Given the description of an element on the screen output the (x, y) to click on. 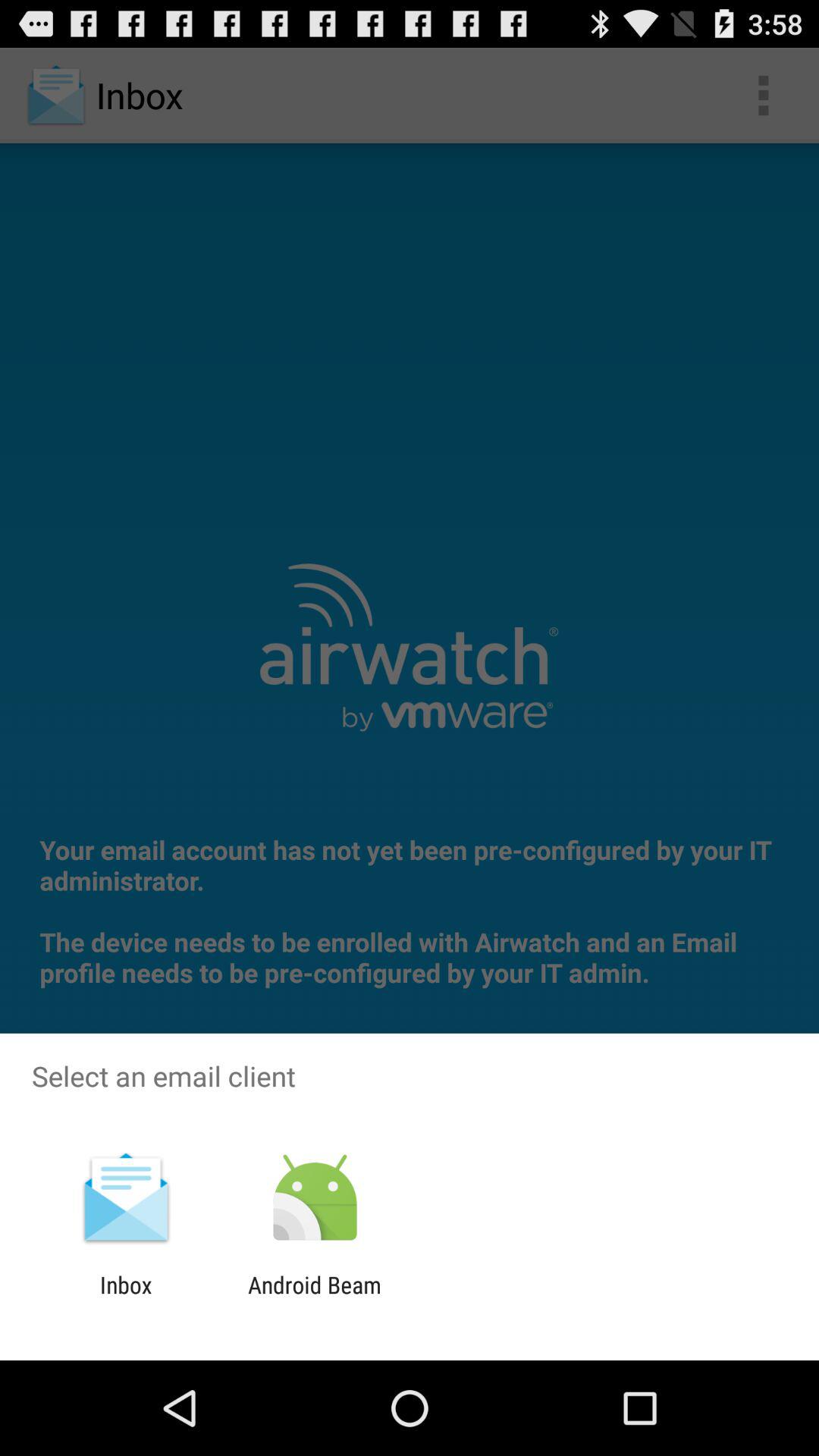
launch icon next to inbox item (314, 1298)
